Given the description of an element on the screen output the (x, y) to click on. 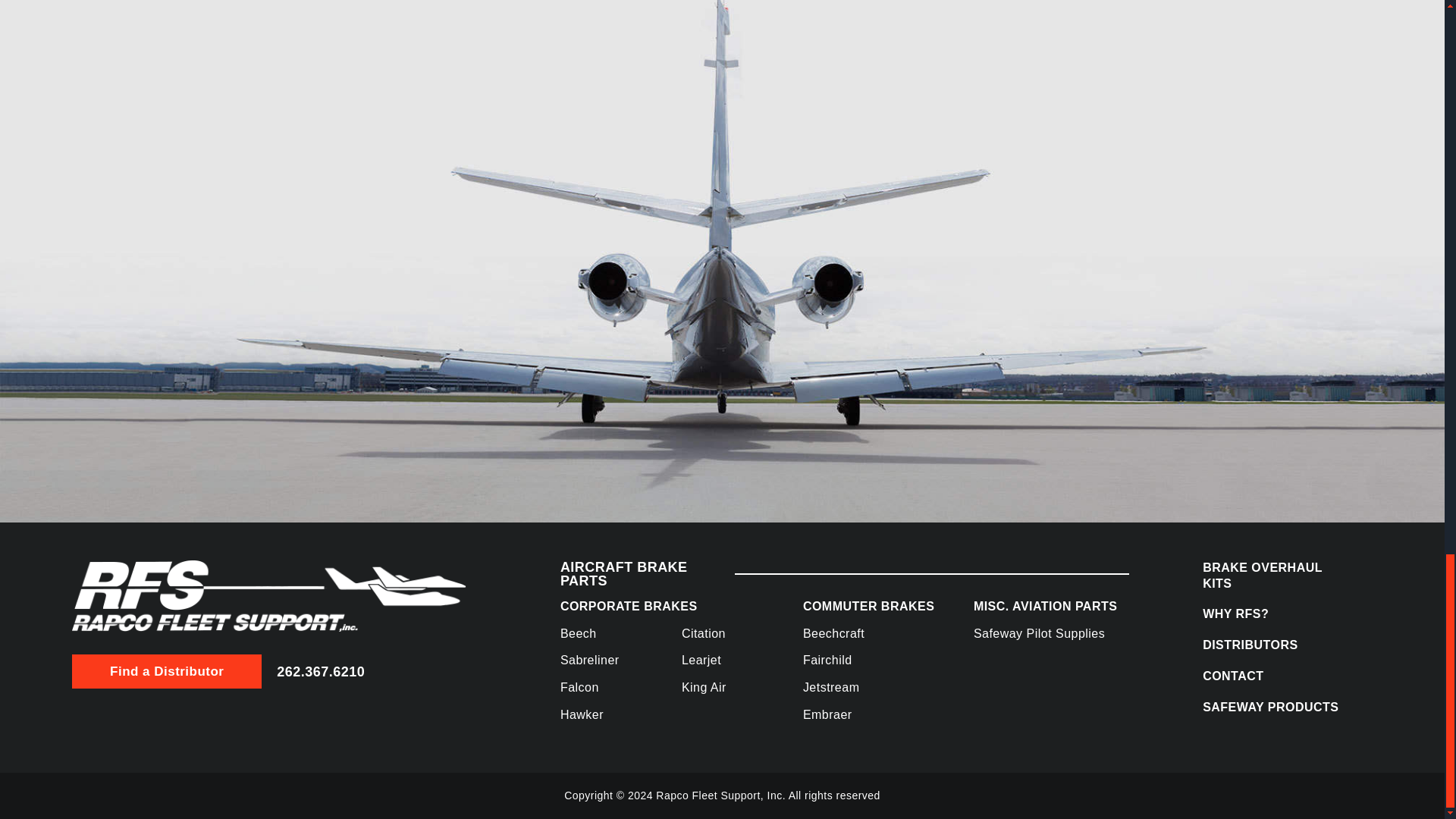
262.367.6210 (320, 671)
Find a Distributor (166, 671)
